Given the description of an element on the screen output the (x, y) to click on. 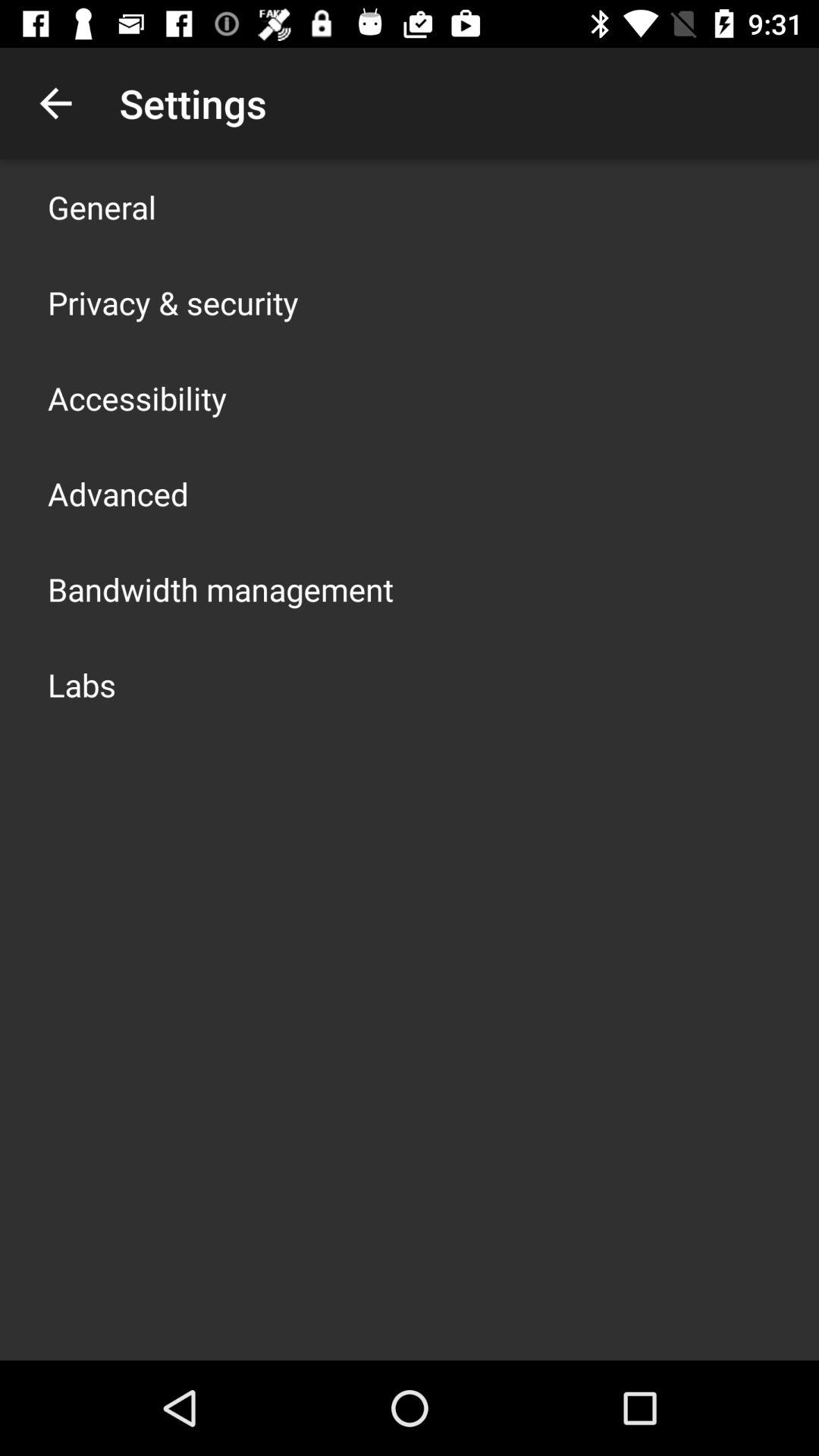
select the item above the labs icon (220, 588)
